Given the description of an element on the screen output the (x, y) to click on. 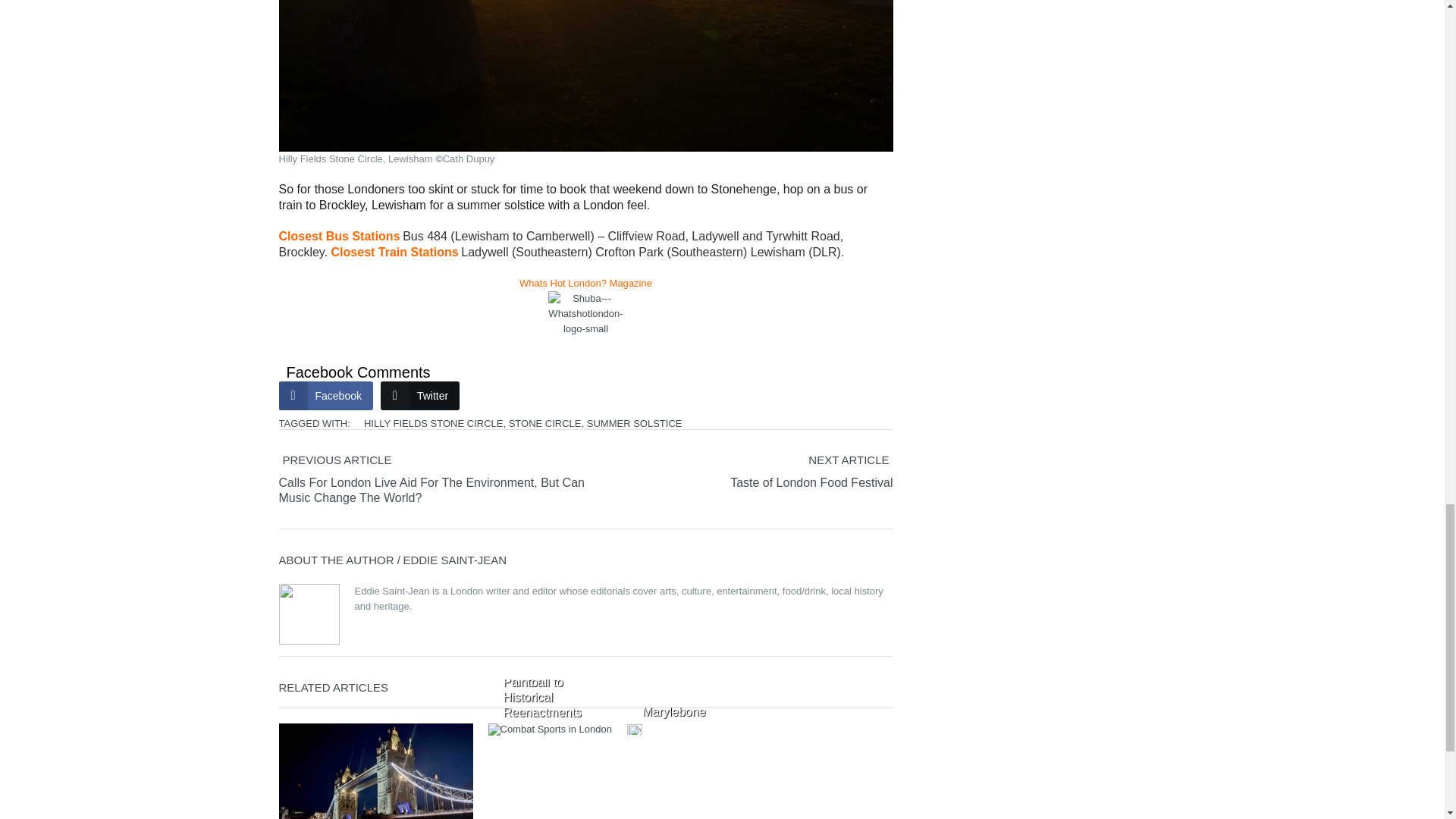
Facebook (325, 394)
Whats Hot London? Magazine (585, 283)
Posts by Eddie Saint-Jean (454, 559)
Twitter (420, 394)
HILLY FIELDS STONE CIRCLE (433, 422)
